Given the description of an element on the screen output the (x, y) to click on. 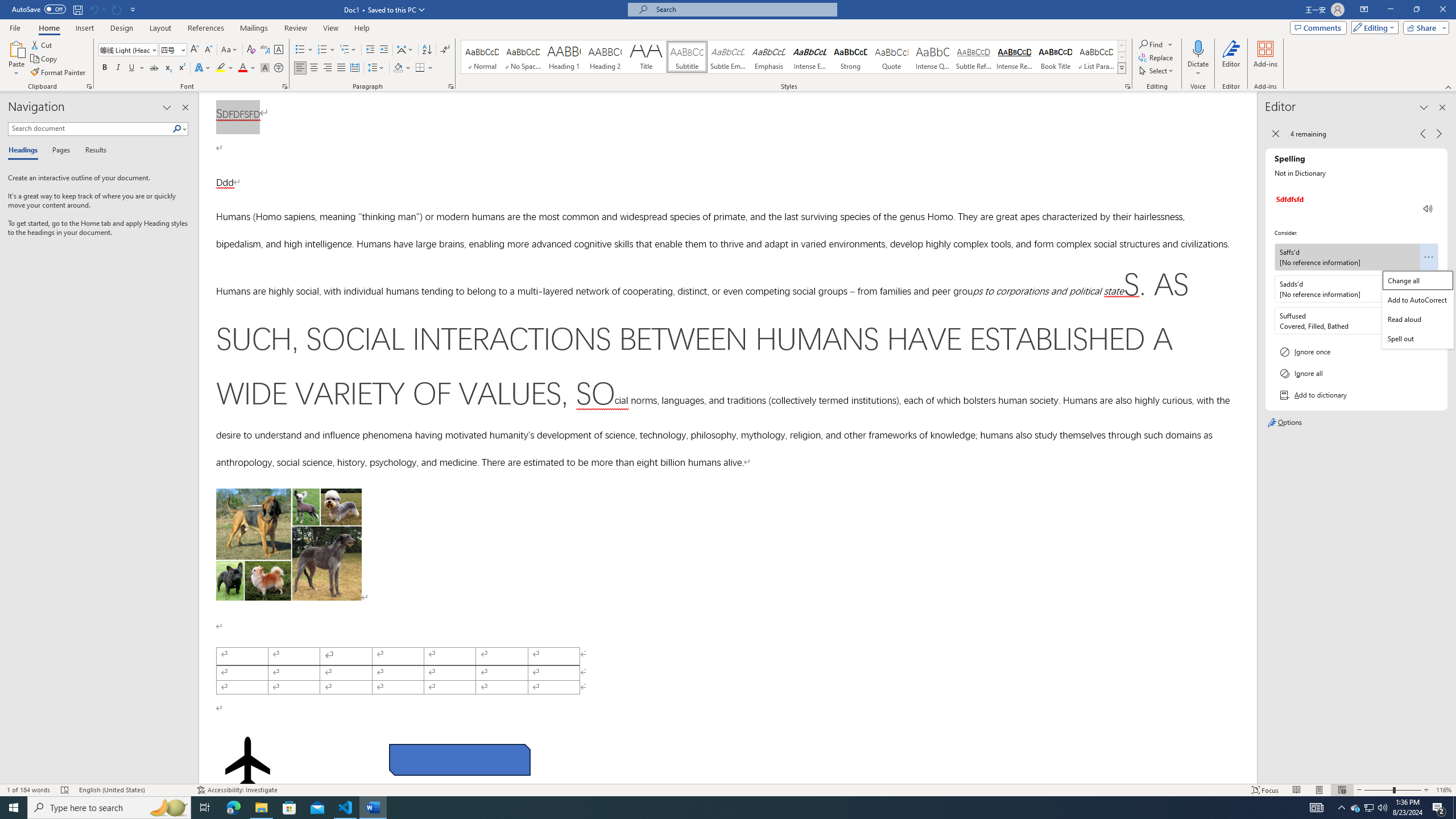
Add to AutoCorrect (1418, 299)
Microsoft Edge (233, 807)
